Given the description of an element on the screen output the (x, y) to click on. 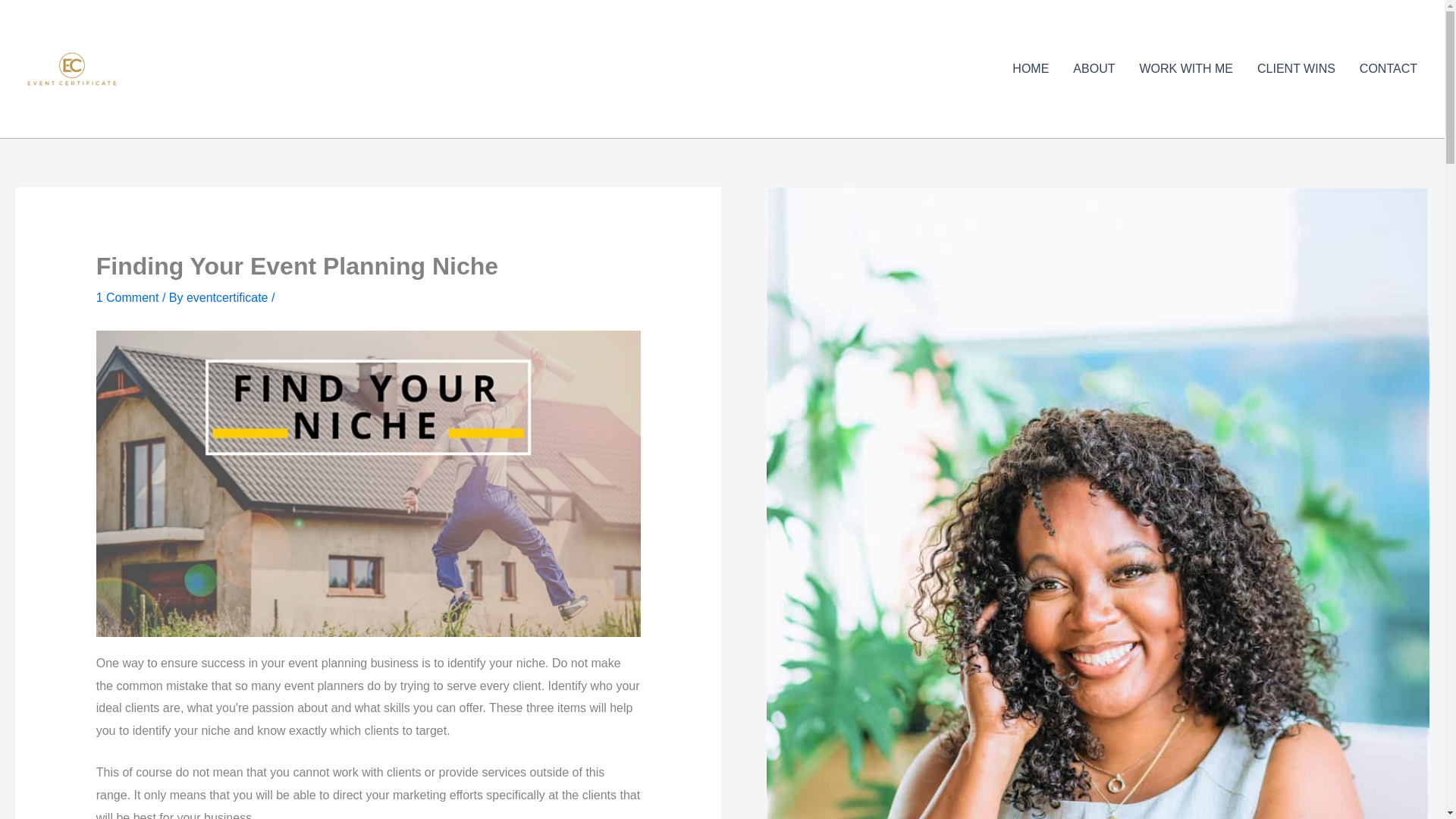
CONTACT (1388, 68)
ABOUT (1093, 68)
View all posts by eventcertificate (228, 297)
CLIENT WINS (1296, 68)
HOME (1030, 68)
WORK WITH ME (1185, 68)
